Given the description of an element on the screen output the (x, y) to click on. 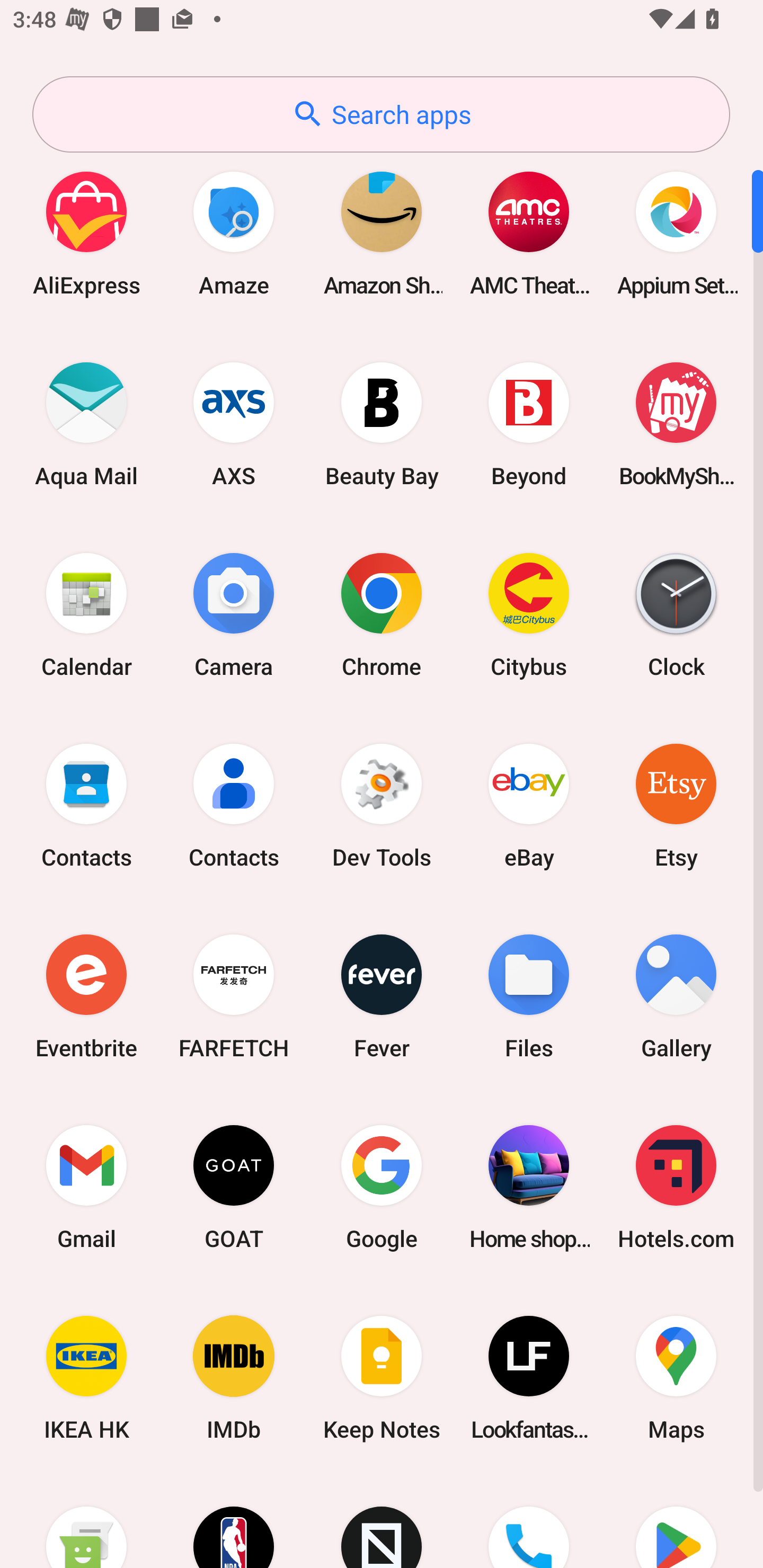
  Search apps (381, 114)
AliExpress (86, 233)
Amaze (233, 233)
Amazon Shopping (381, 233)
AMC Theatres (528, 233)
Appium Settings (676, 233)
Aqua Mail (86, 424)
AXS (233, 424)
Beauty Bay (381, 424)
Beyond (528, 424)
BookMyShow (676, 424)
Calendar (86, 614)
Camera (233, 614)
Chrome (381, 614)
Citybus (528, 614)
Clock (676, 614)
Contacts (86, 805)
Contacts (233, 805)
Dev Tools (381, 805)
eBay (528, 805)
Etsy (676, 805)
Eventbrite (86, 996)
FARFETCH (233, 996)
Fever (381, 996)
Files (528, 996)
Gallery (676, 996)
Gmail (86, 1186)
GOAT (233, 1186)
Google (381, 1186)
Home shopping (528, 1186)
Hotels.com (676, 1186)
IKEA HK (86, 1377)
IMDb (233, 1377)
Keep Notes (381, 1377)
Lookfantastic (528, 1377)
Maps (676, 1377)
